Given the description of an element on the screen output the (x, y) to click on. 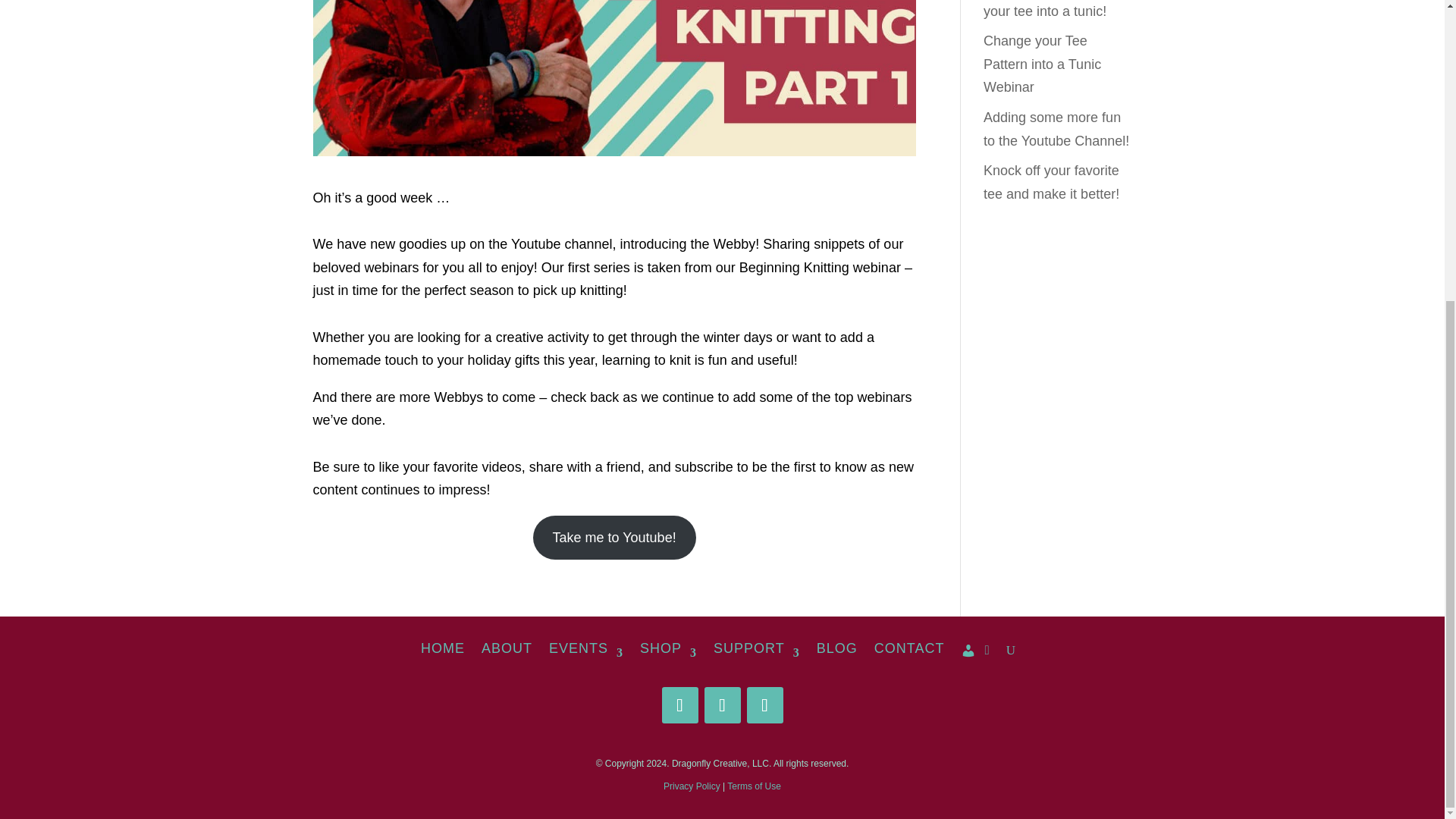
SHOP (668, 647)
Follow on Facebook (679, 705)
Adding some more fun to the Youtube Channel! (1056, 128)
CONTACT (909, 647)
Change your Tee Pattern into a Tunic Webinar (1042, 64)
HOME (442, 647)
SUPPORT (756, 647)
BLOG (836, 647)
EVENTS (585, 647)
Follow on Instagram (721, 705)
